Given the description of an element on the screen output the (x, y) to click on. 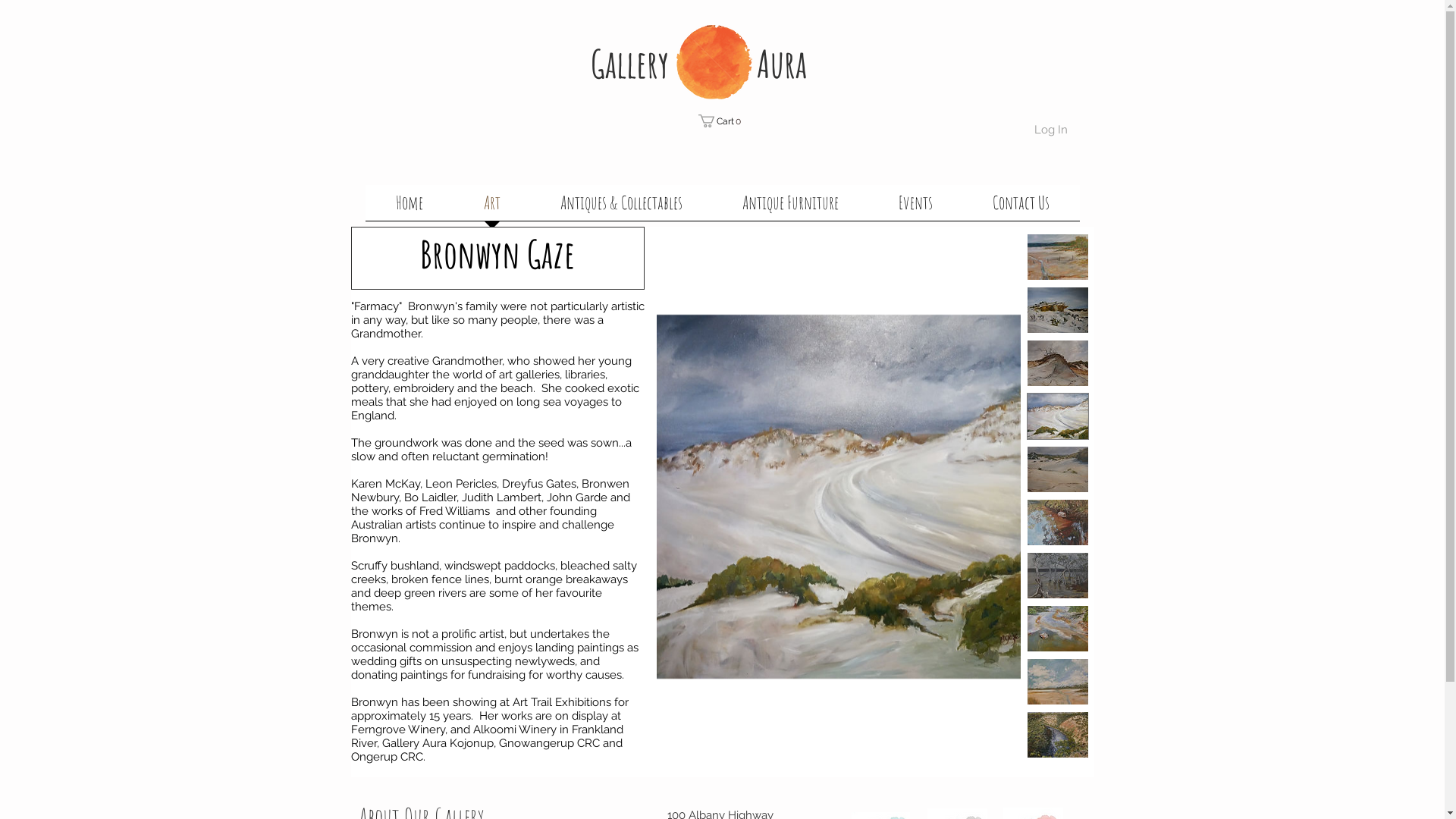
Antique Furniture Element type: text (790, 207)
Cart
0 Element type: text (721, 120)
Antiques & Collectables Element type: text (621, 207)
Art Element type: text (491, 207)
Aura Element type: text (781, 63)
Home Element type: text (409, 207)
Log In Element type: text (1050, 128)
Gallery Element type: text (628, 63)
Contact Us Element type: text (1021, 207)
Events Element type: text (916, 207)
